Given the description of an element on the screen output the (x, y) to click on. 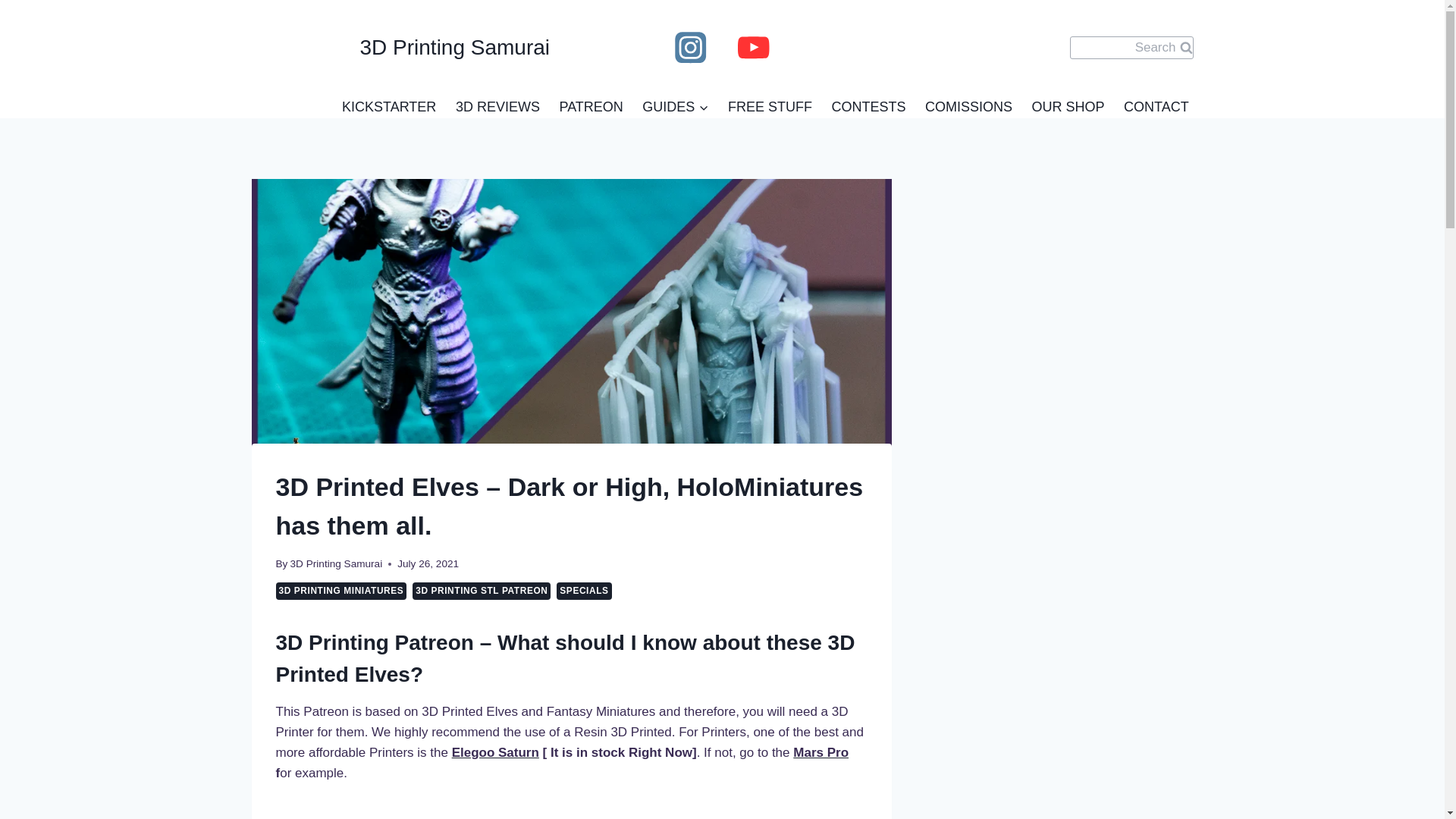
3D REVIEWS (497, 106)
SPECIALS (583, 590)
CONTACT (1155, 106)
Mars Pro (820, 752)
GUIDES (676, 106)
3D PRINTING STL PATREON (481, 590)
3D Printing Samurai (335, 563)
3D Printing Samurai (400, 47)
CONTESTS (868, 106)
OUR SHOP (1067, 106)
COMISSIONS (968, 106)
KICKSTARTER (389, 106)
FREE STUFF (769, 106)
3D PRINTING MINIATURES (341, 590)
Search (1131, 47)
